Given the description of an element on the screen output the (x, y) to click on. 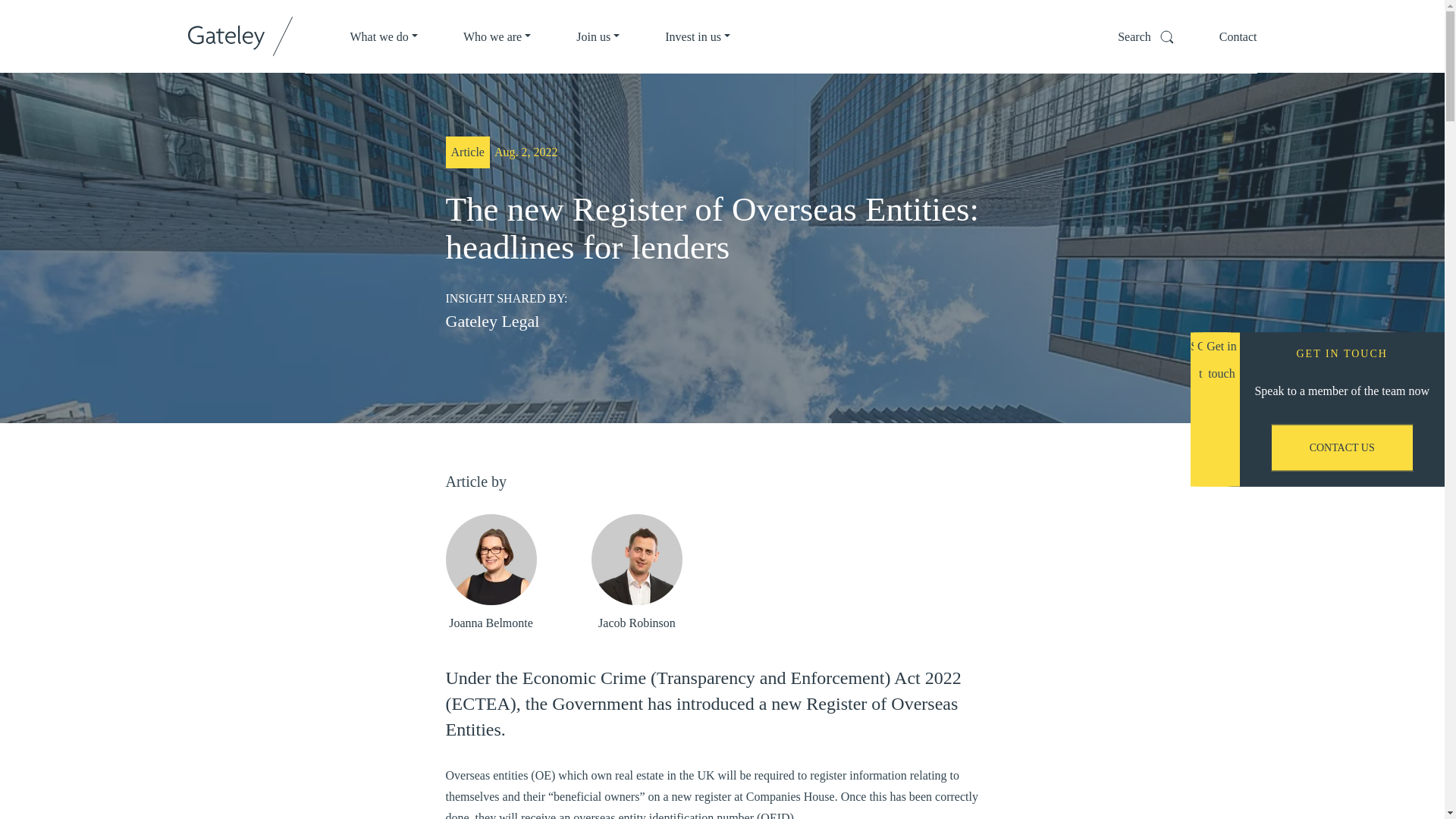
What we do (383, 36)
